Given the description of an element on the screen output the (x, y) to click on. 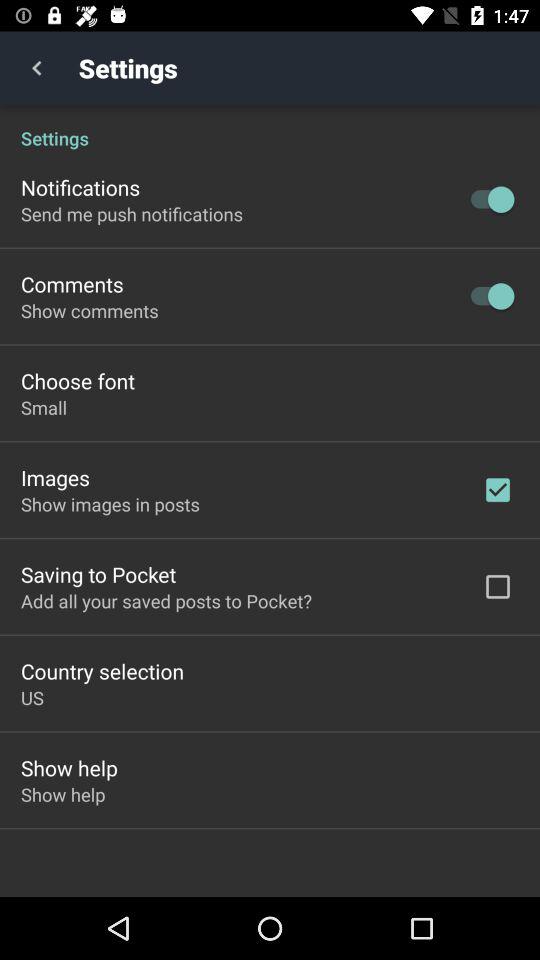
jump until the country selection icon (102, 670)
